Given the description of an element on the screen output the (x, y) to click on. 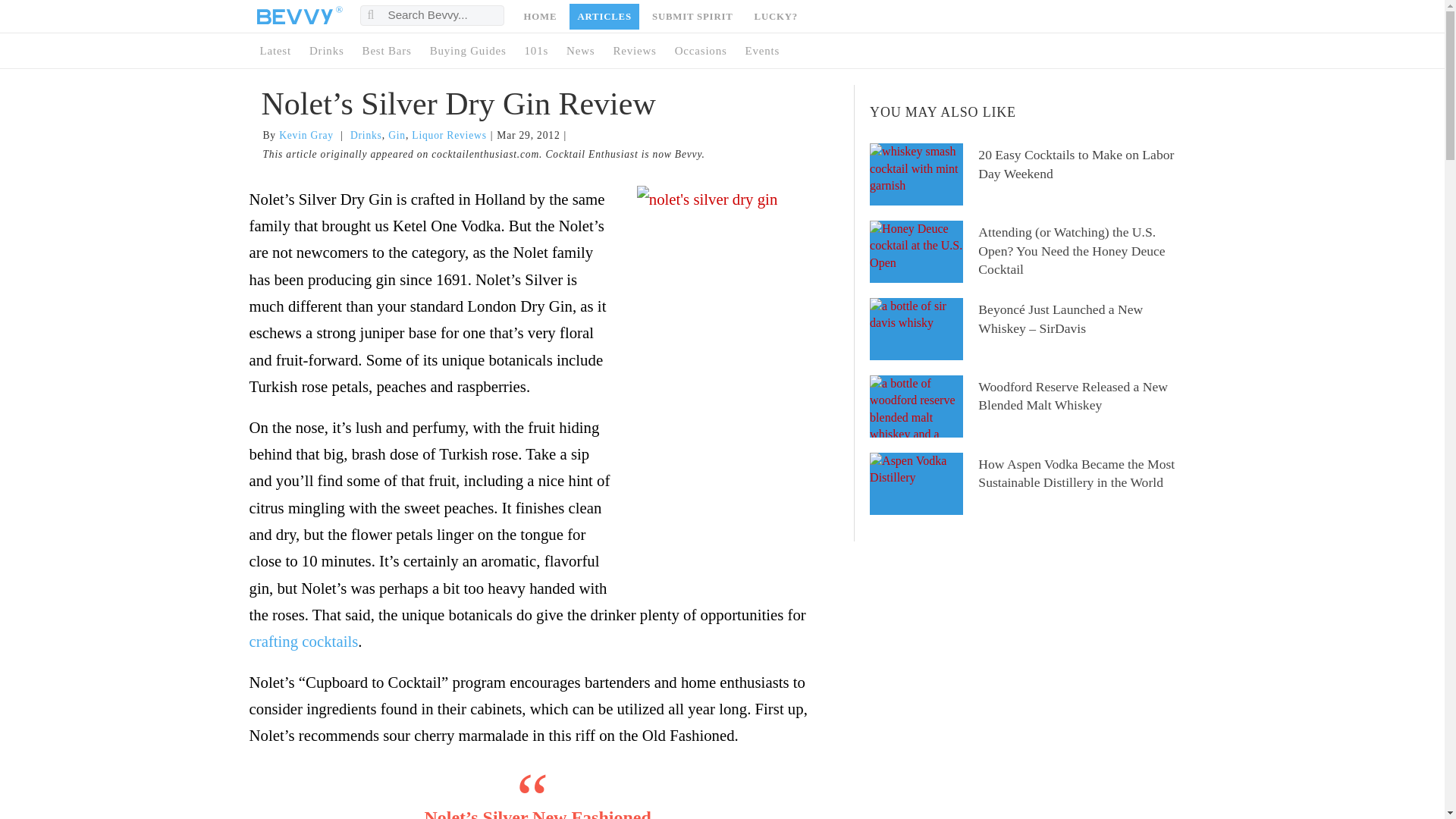
Buying Guides (466, 51)
Submit your spirit to Bevvy (693, 16)
Bevvy Home (293, 16)
Posts by Kevin Gray (306, 134)
LUCKY? (775, 16)
Drinks (324, 51)
SUBMIT SPIRIT (693, 16)
Latest (273, 51)
Learn about bartending, booze and more in our 101 guides. (534, 51)
101s (534, 51)
